Given the description of an element on the screen output the (x, y) to click on. 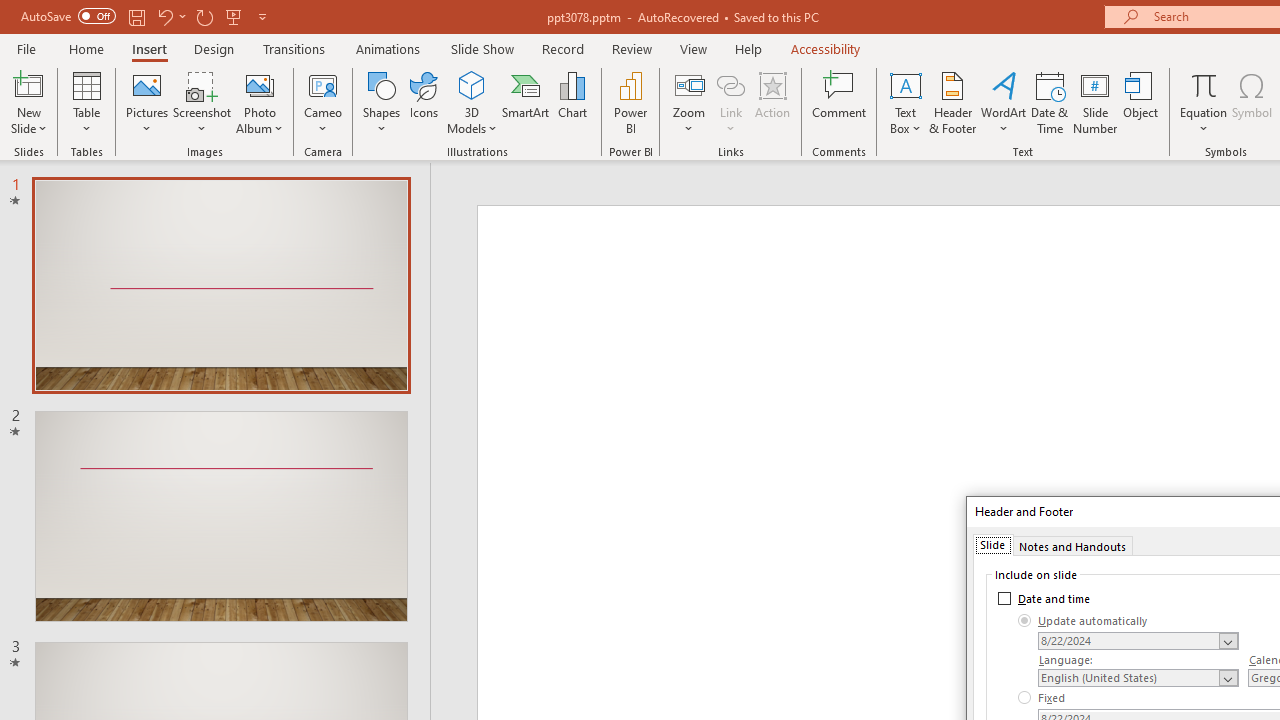
Link (731, 84)
Table (86, 102)
Equation (1203, 102)
